Given the description of an element on the screen output the (x, y) to click on. 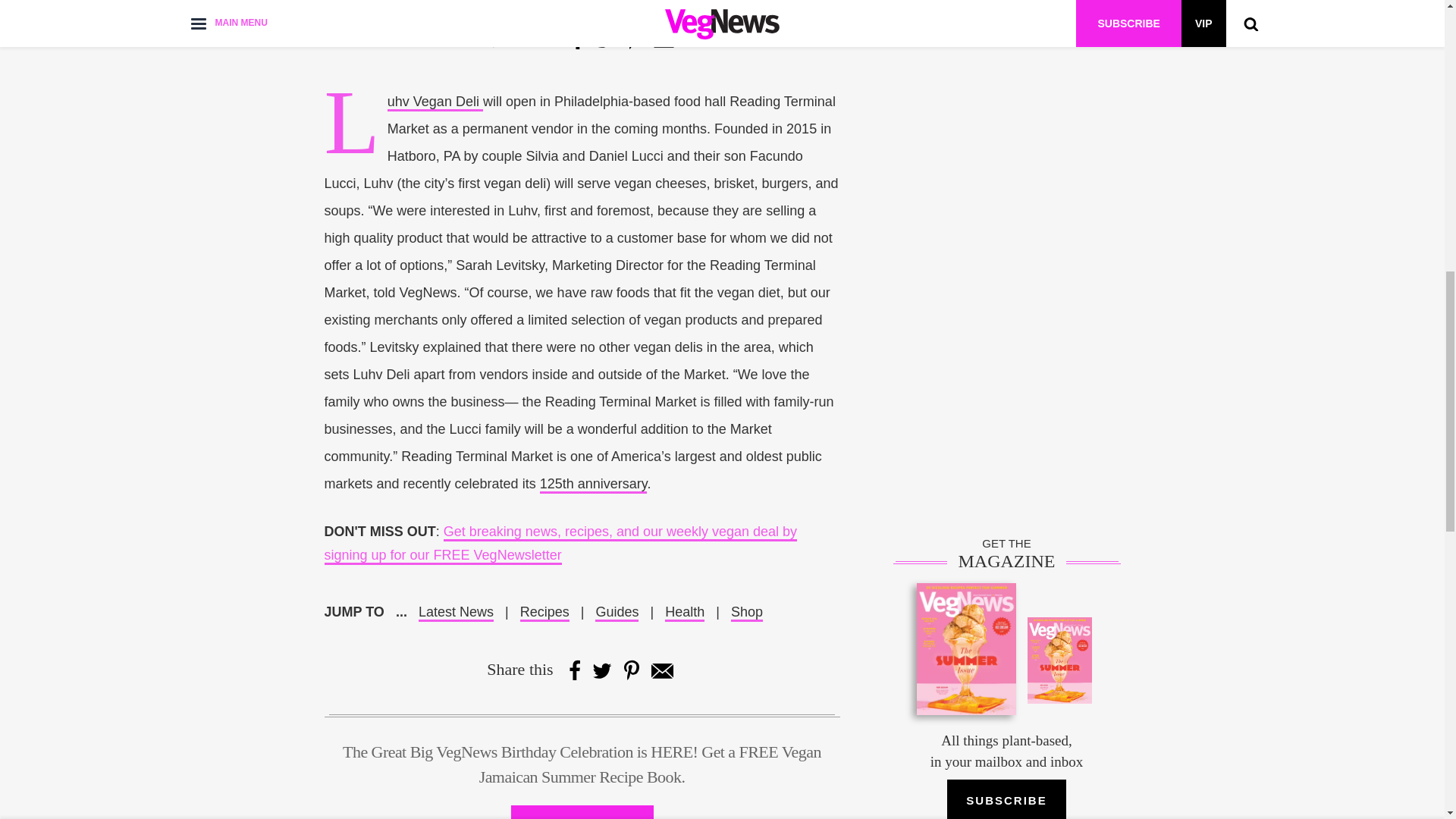
Share article via email (663, 38)
Share article on Twitter (604, 38)
Share article via email (661, 670)
Share article on Twitter (601, 670)
